Given the description of an element on the screen output the (x, y) to click on. 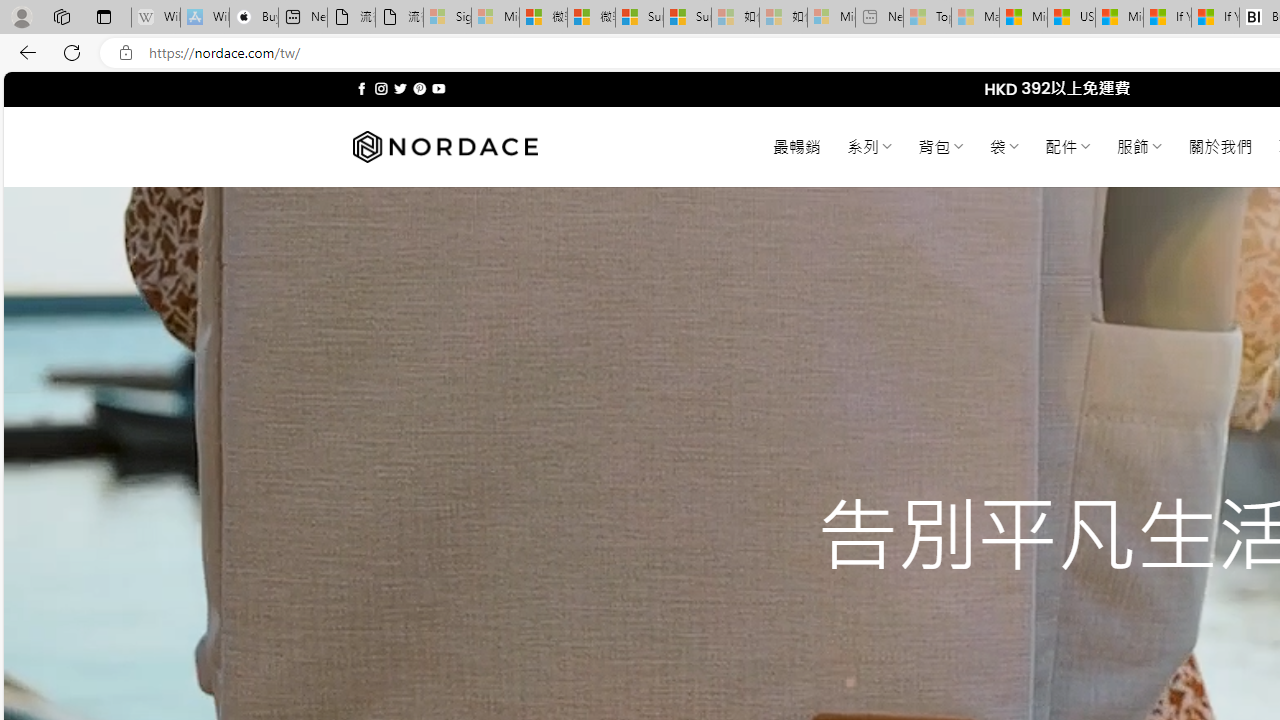
Follow on Pinterest (419, 88)
Follow on Instagram (381, 88)
Follow on Twitter (400, 88)
Top Stories - MSN - Sleeping (927, 17)
